Given the description of an element on the screen output the (x, y) to click on. 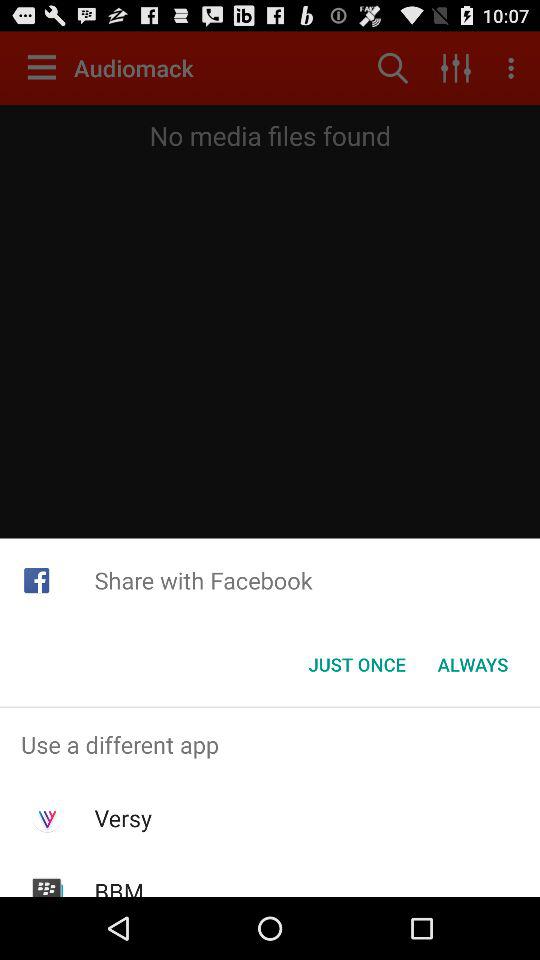
turn off the versy icon (122, 817)
